Given the description of an element on the screen output the (x, y) to click on. 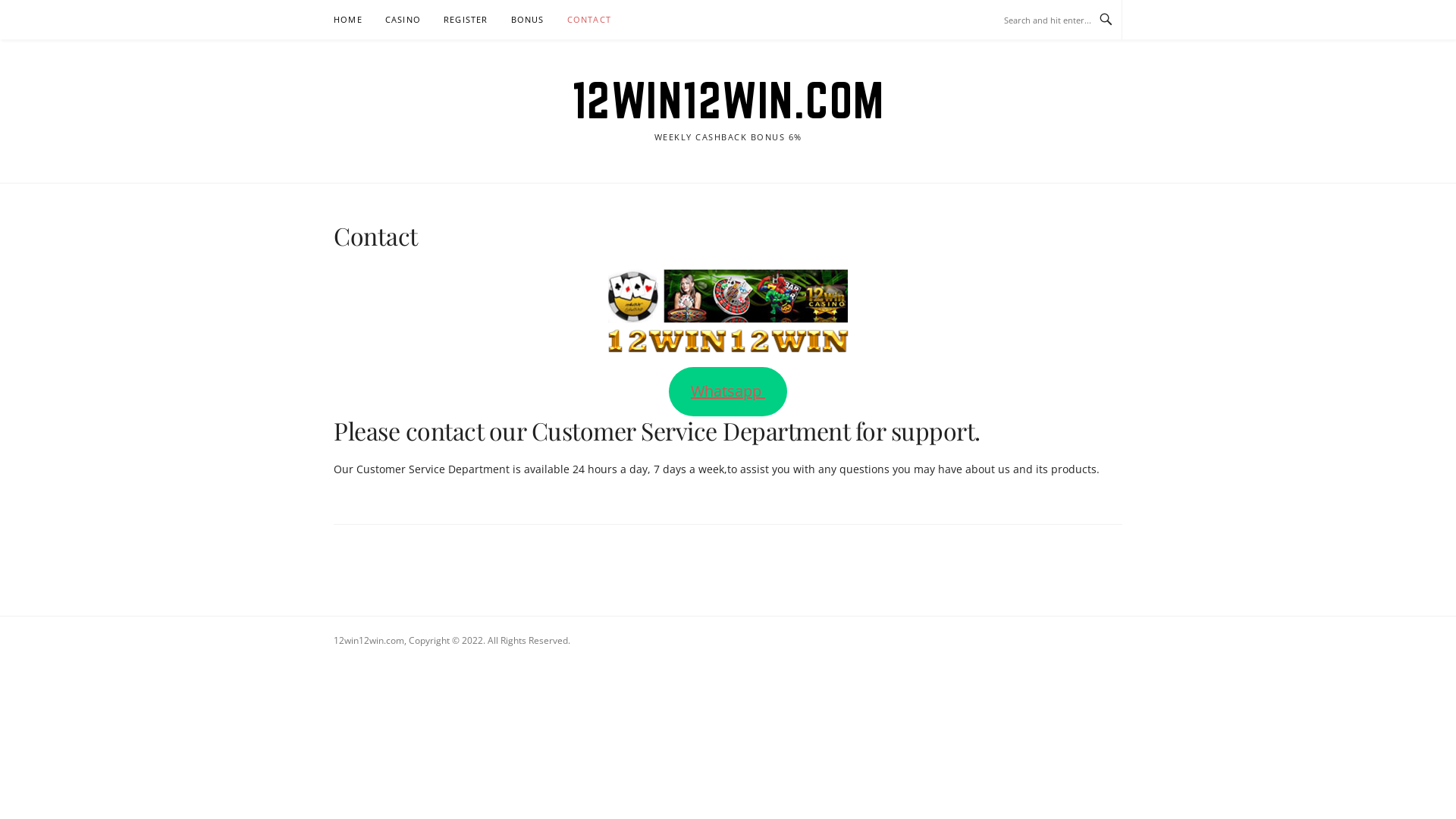
REGISTER Element type: text (465, 19)
12WIN12WIN.COM Element type: text (727, 99)
Whatsapp  Element type: text (727, 391)
BONUS Element type: text (527, 19)
CASINO Element type: text (402, 19)
HOME Element type: text (347, 19)
CONTACT Element type: text (589, 19)
